Given the description of an element on the screen output the (x, y) to click on. 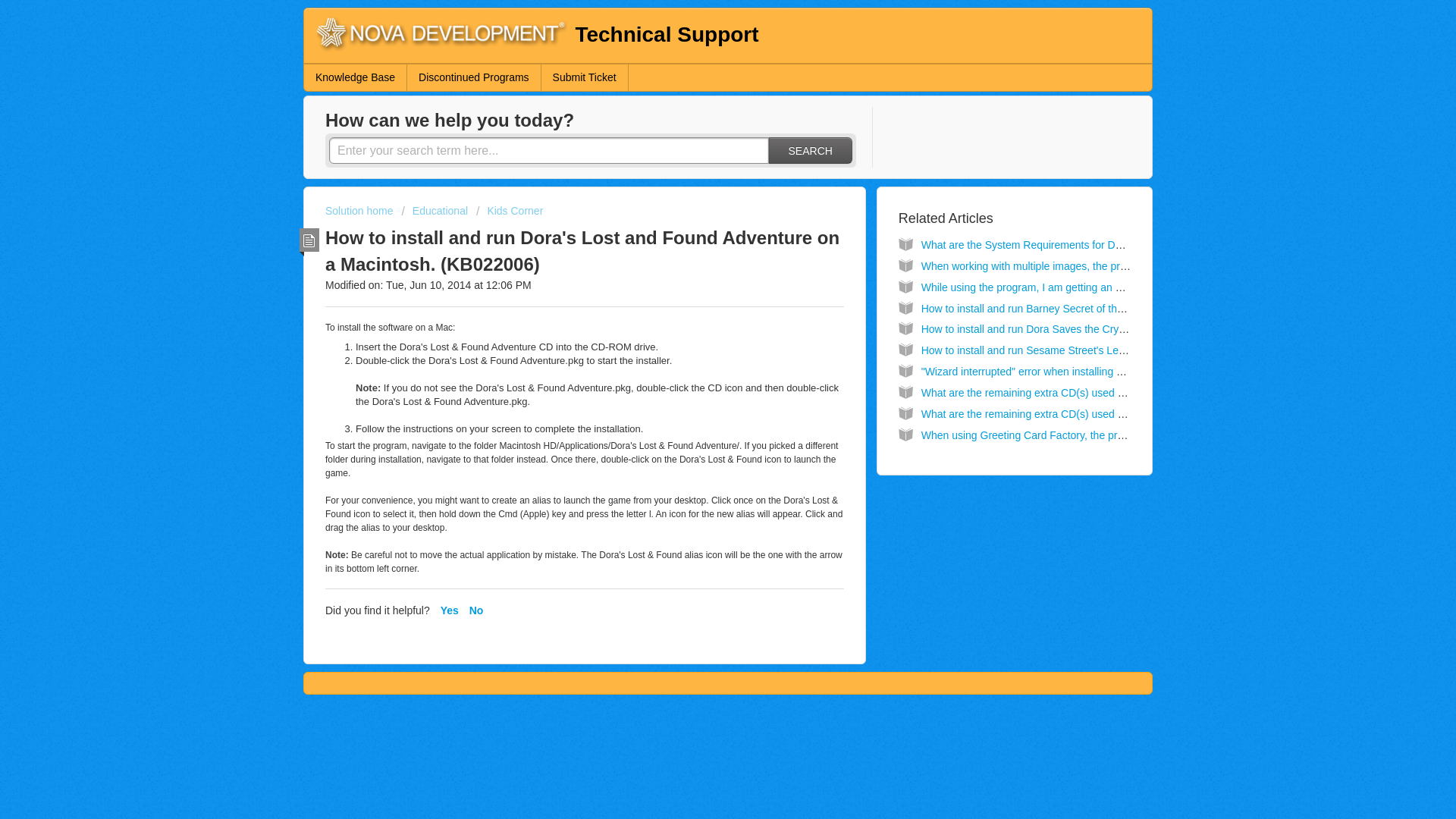
Submit Ticket (584, 77)
SEARCH (809, 150)
Kids Corner (509, 210)
Solution home (360, 210)
Knowledge Base (355, 77)
Educational (434, 210)
Discontinued Programs (474, 77)
